Given the description of an element on the screen output the (x, y) to click on. 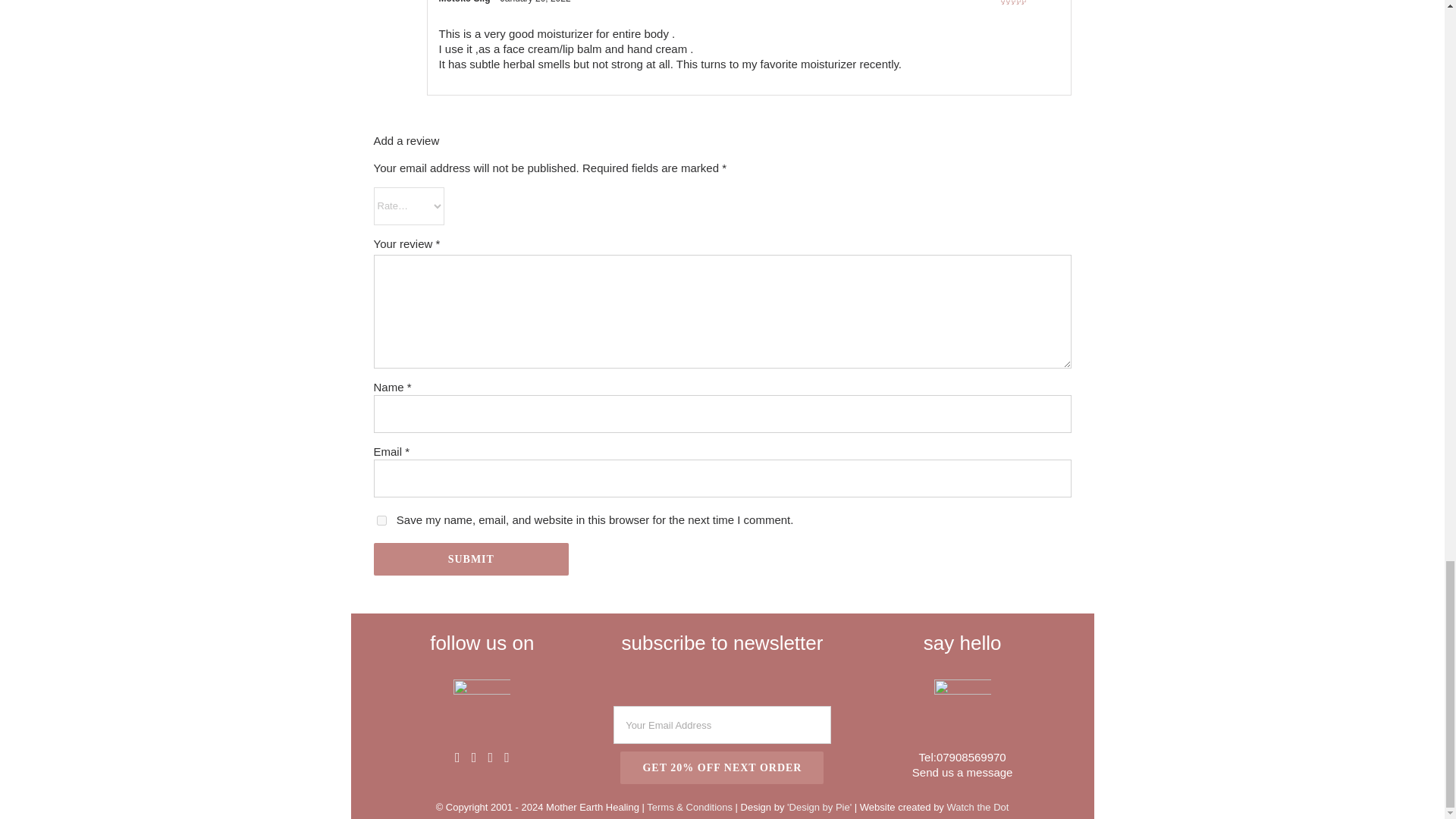
yes (380, 520)
Submit (470, 558)
